Given the description of an element on the screen output the (x, y) to click on. 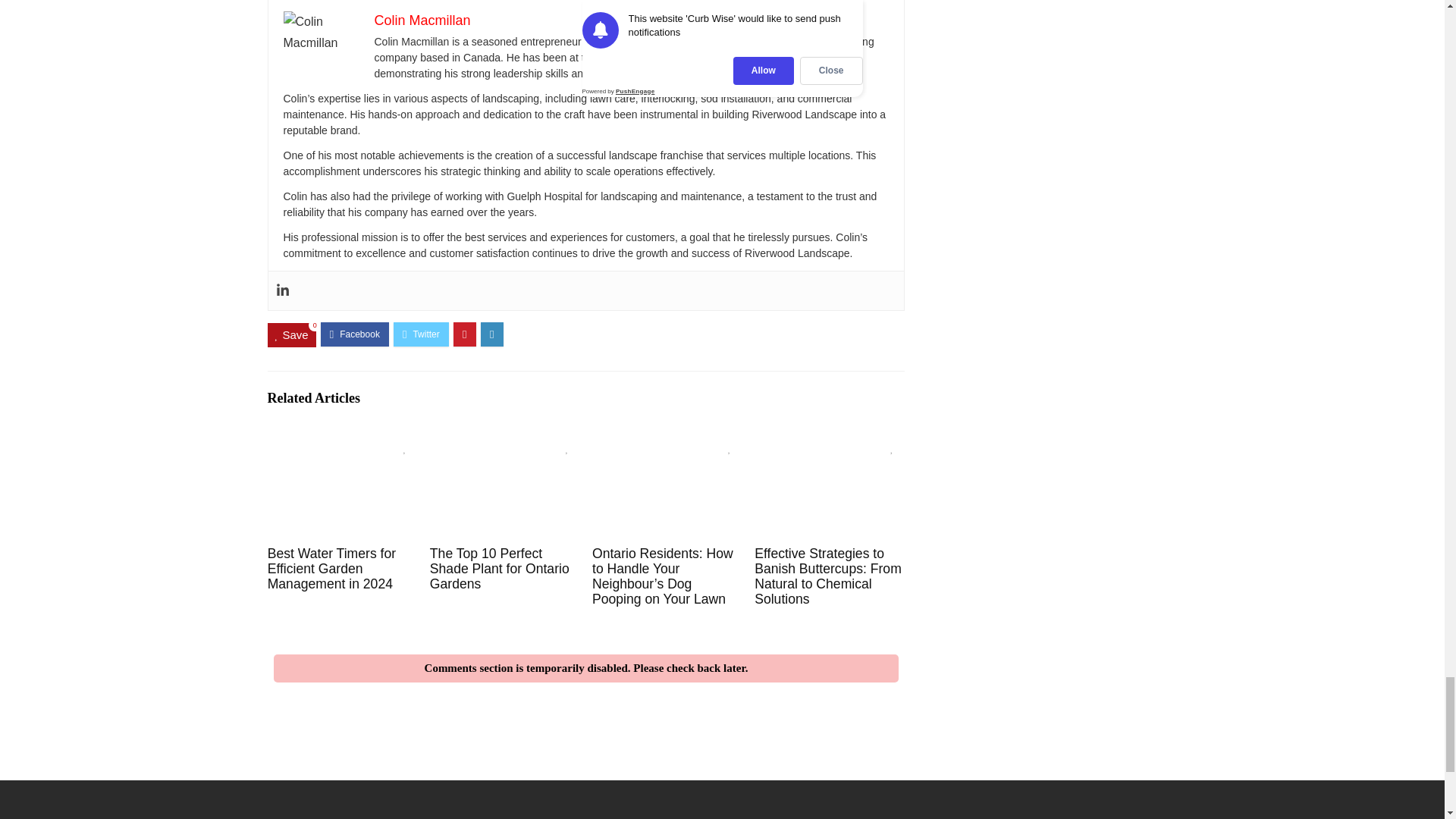
Growing Lupins in Ontario: My Expert Tips for Success 4 (321, 32)
